Given the description of an element on the screen output the (x, y) to click on. 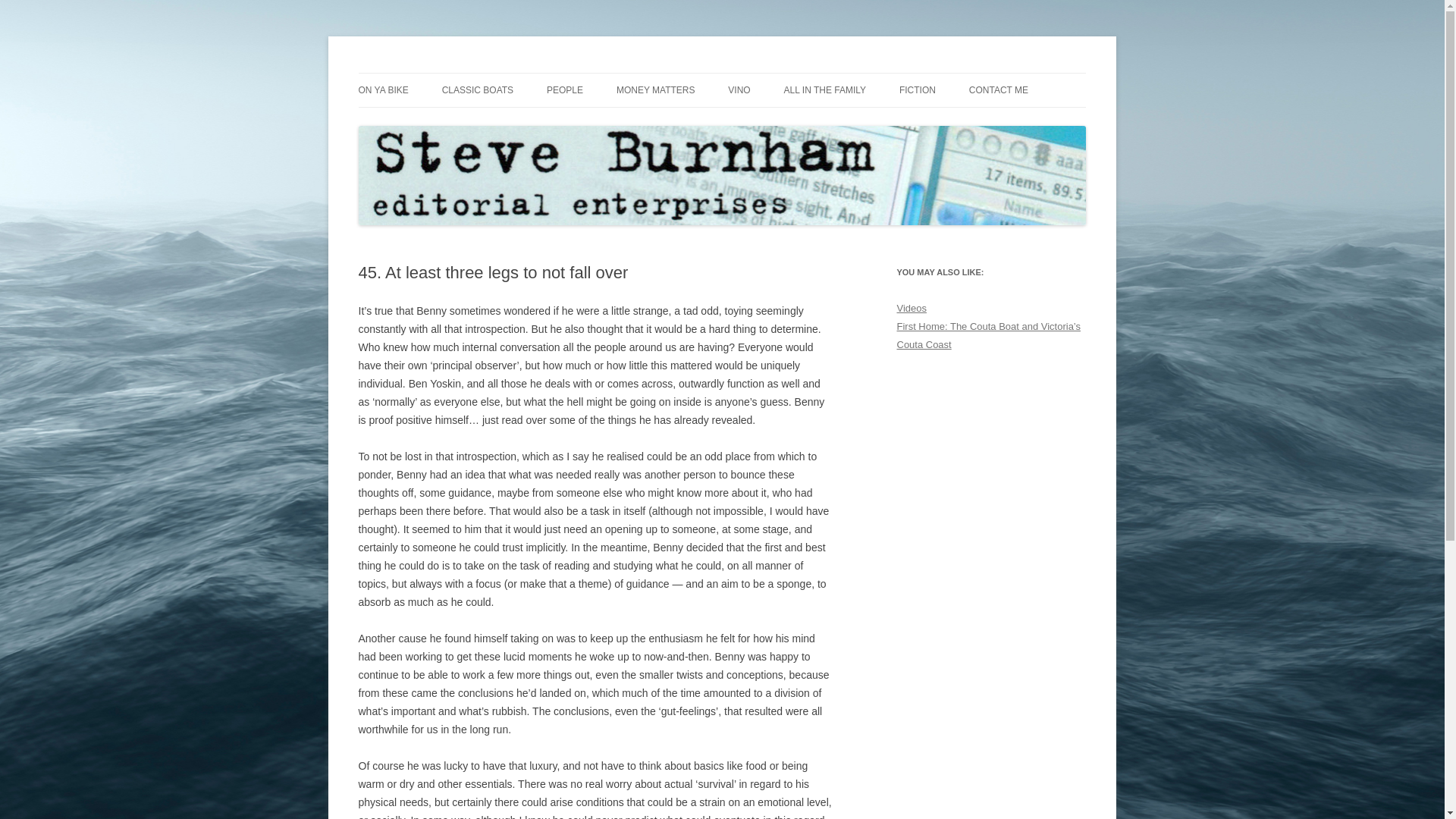
LOCK IT OR LOSE IT (433, 122)
PEOPLE (565, 90)
burnham.net.au (431, 72)
Skip to content (757, 77)
ON YA BIKE (382, 90)
burnham.net.au (431, 72)
Skip to content (757, 77)
ENTERPRIZE: THE SHIP THAT FOUNDED MELBOURNE (518, 131)
CLASSIC BOATS (477, 90)
DUGGA BEAZLEY: FISHERMAN, BOATBUILDER, SAILOR (622, 131)
